Given the description of an element on the screen output the (x, y) to click on. 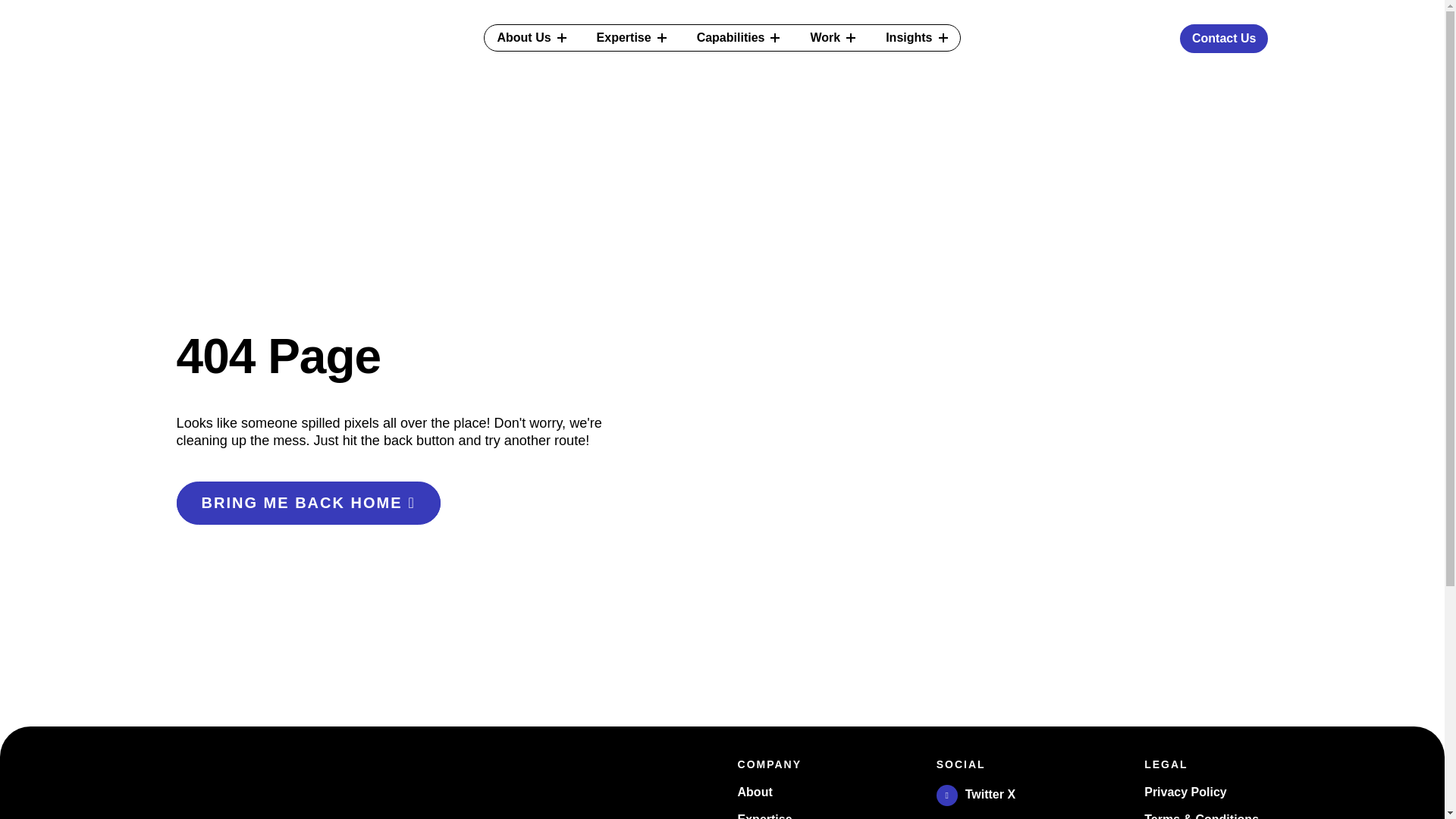
Expertise (631, 37)
Bliss (284, 787)
Insights (916, 37)
About Us (531, 37)
Work (832, 37)
Capabilities (738, 37)
Bliss (239, 86)
